Given the description of an element on the screen output the (x, y) to click on. 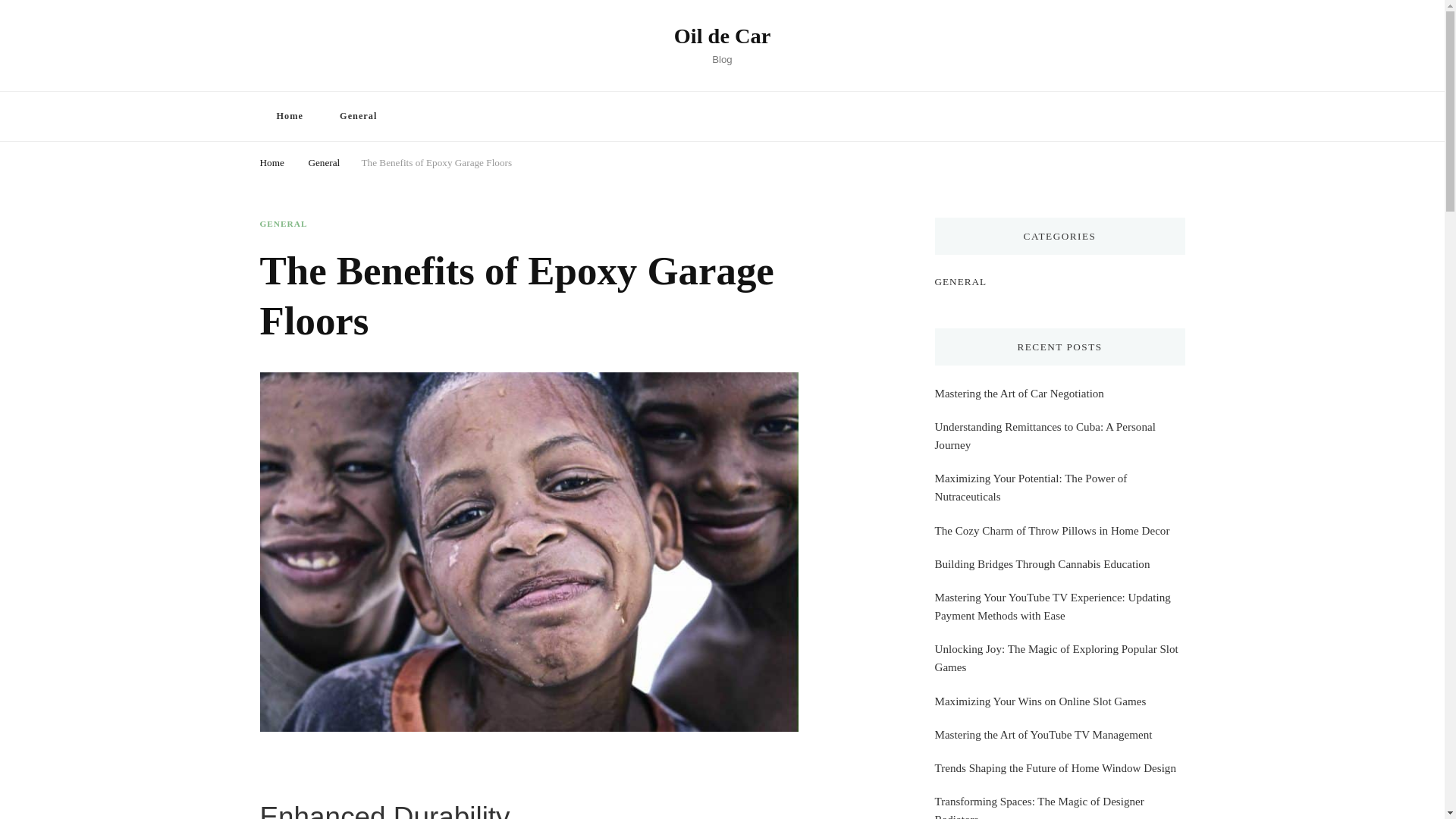
Building Bridges Through Cannabis Education (1042, 564)
Understanding Remittances to Cuba: A Personal Journey (1059, 435)
Home (271, 161)
GENERAL (960, 281)
General (323, 161)
The Benefits of Epoxy Garage Floors (436, 161)
Mastering the Art of Car Negotiation (1018, 393)
General (358, 115)
Unlocking Joy: The Magic of Exploring Popular Slot Games (1059, 657)
